Given the description of an element on the screen output the (x, y) to click on. 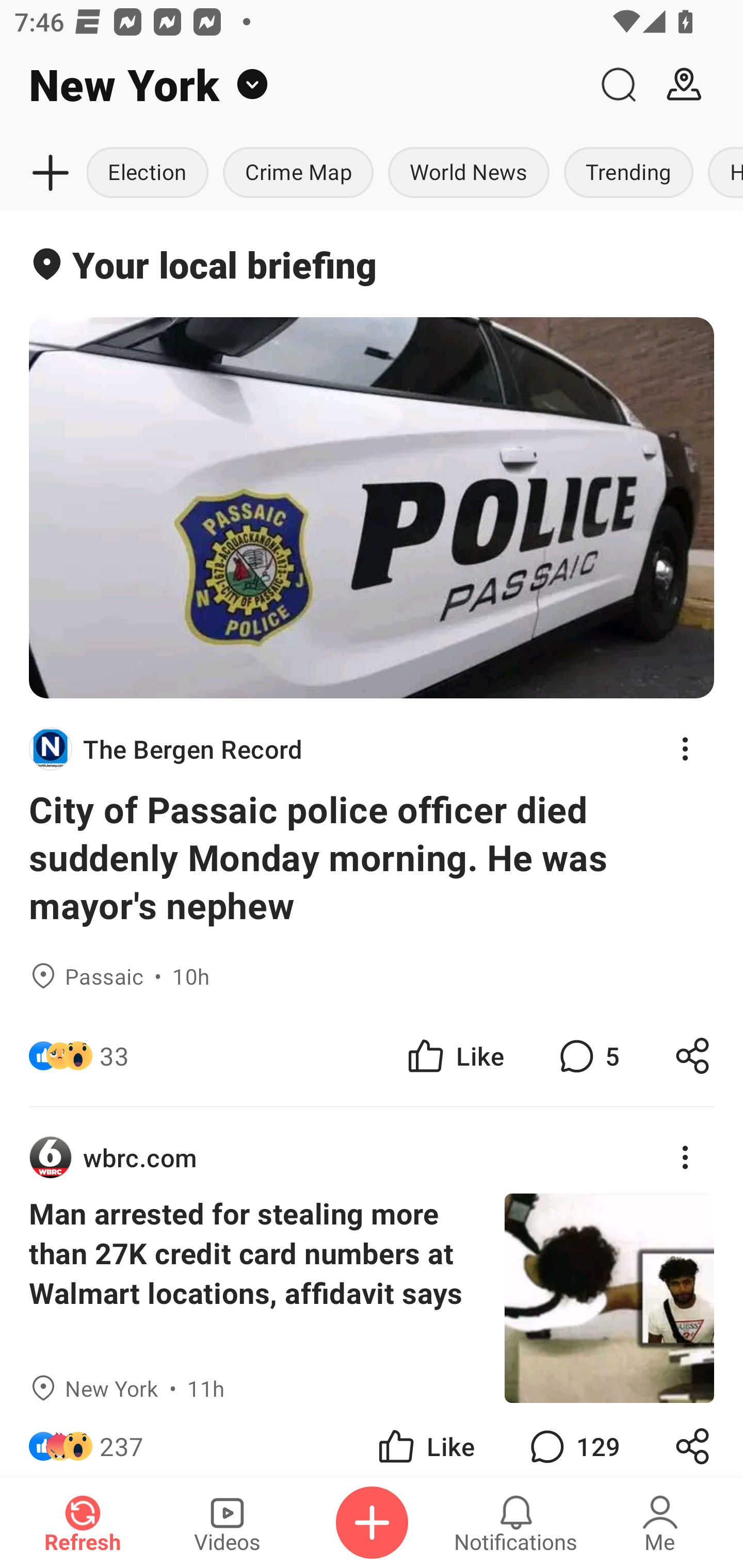
New York (292, 84)
Election (150, 172)
Crime Map (297, 172)
World News (468, 172)
Trending (628, 172)
33 (114, 1055)
Like (454, 1055)
5 (587, 1055)
237 (121, 1440)
Like (425, 1440)
129 (572, 1440)
Videos (227, 1522)
Notifications (516, 1522)
Me (659, 1522)
